Given the description of an element on the screen output the (x, y) to click on. 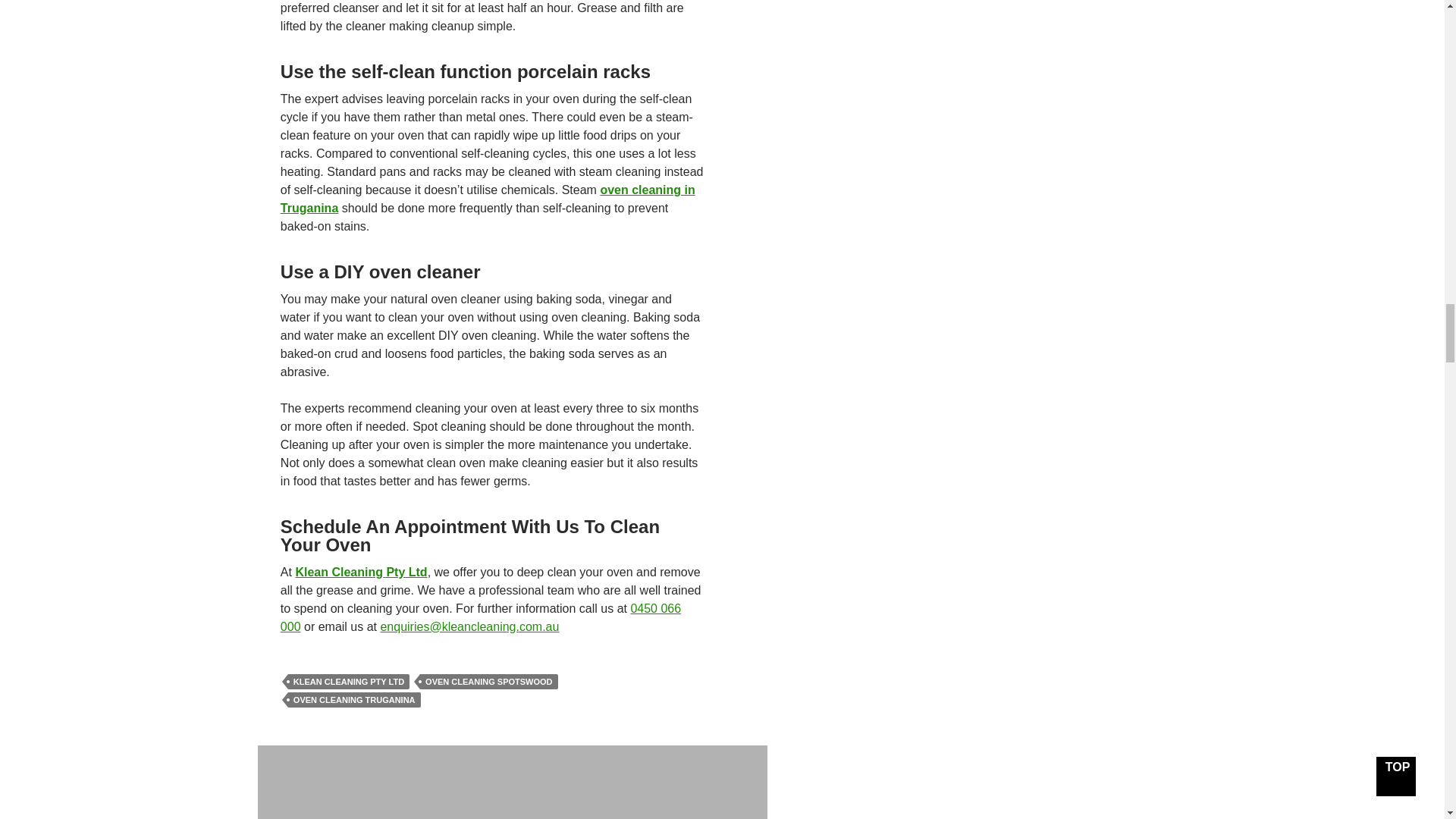
oven cleaning in Truganina (488, 198)
0450 066 000 (481, 617)
Klean Cleaning Pty Ltd (360, 571)
